Given the description of an element on the screen output the (x, y) to click on. 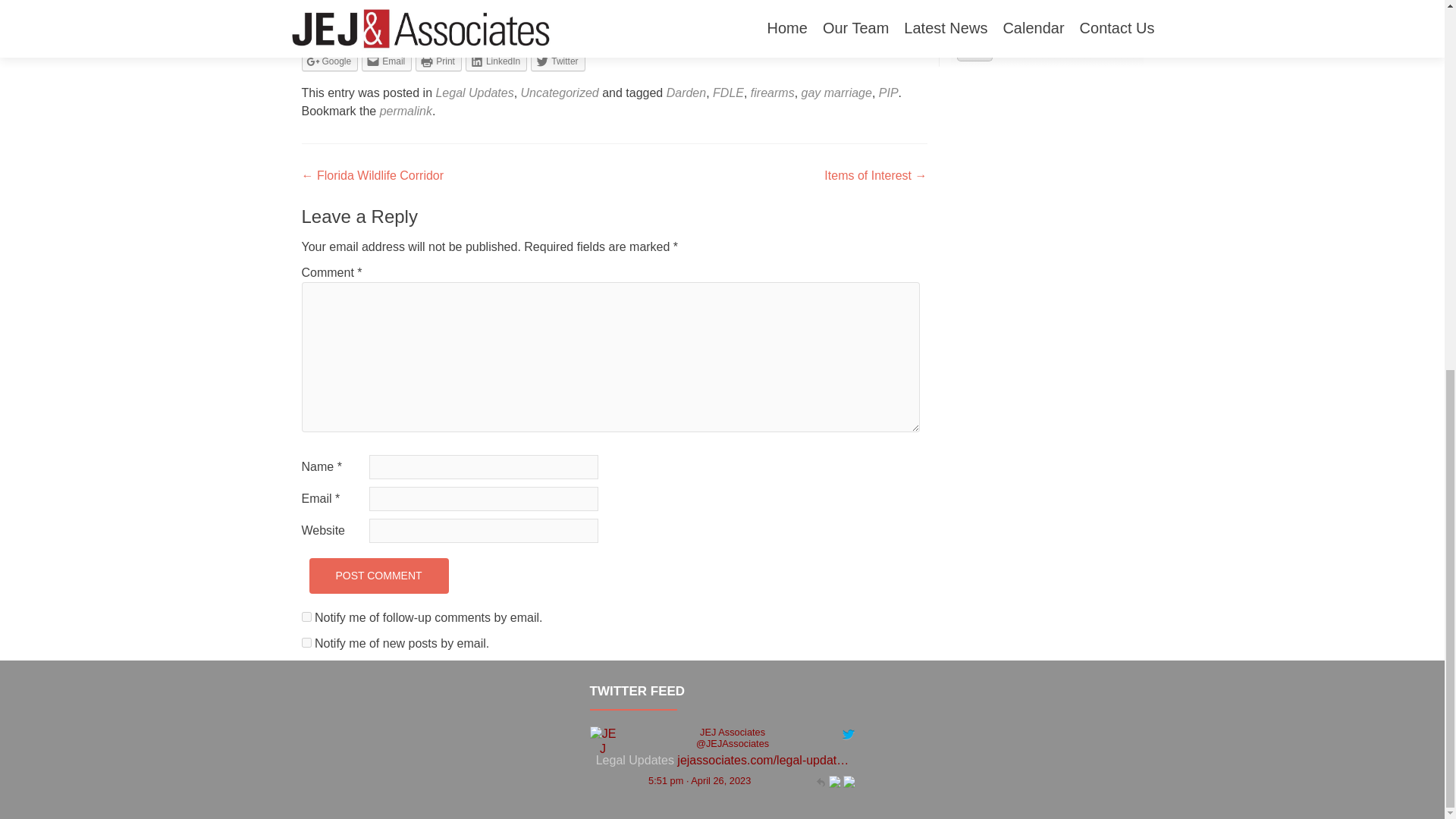
Google (329, 61)
Click to share on LinkedIn (496, 61)
gay marriage (837, 92)
subscribe (306, 642)
Email (386, 61)
LinkedIn (496, 61)
Print (437, 61)
Twitter (558, 61)
PIP (888, 92)
Post Comment (378, 575)
firearms (772, 92)
Post Comment (378, 575)
Uncategorized (559, 92)
Darden (686, 92)
FDLE (728, 92)
